Given the description of an element on the screen output the (x, y) to click on. 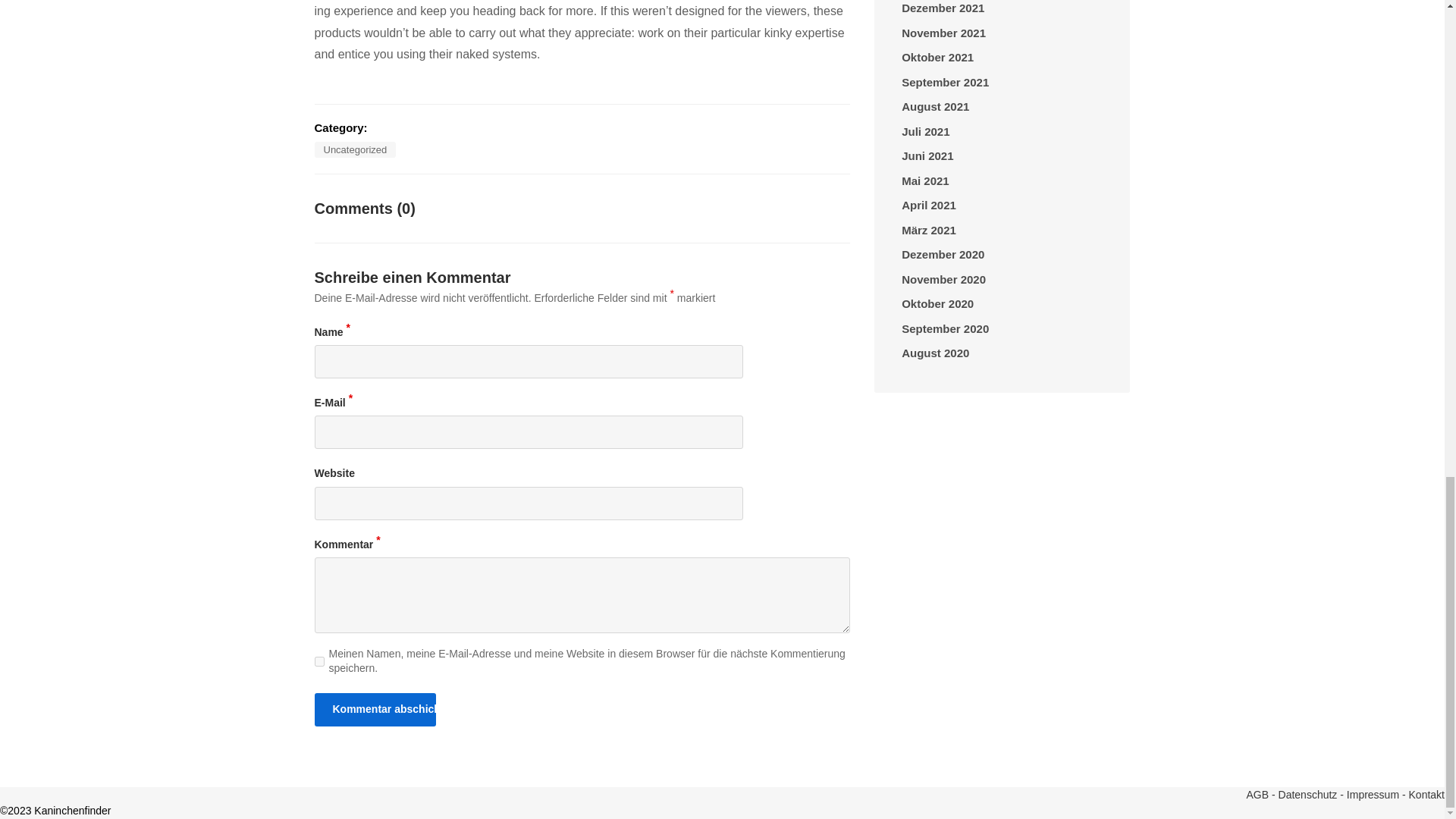
yes (318, 661)
Kommentar abschicken (374, 709)
Kommentar abschicken (374, 709)
Uncategorized (355, 149)
